Given the description of an element on the screen output the (x, y) to click on. 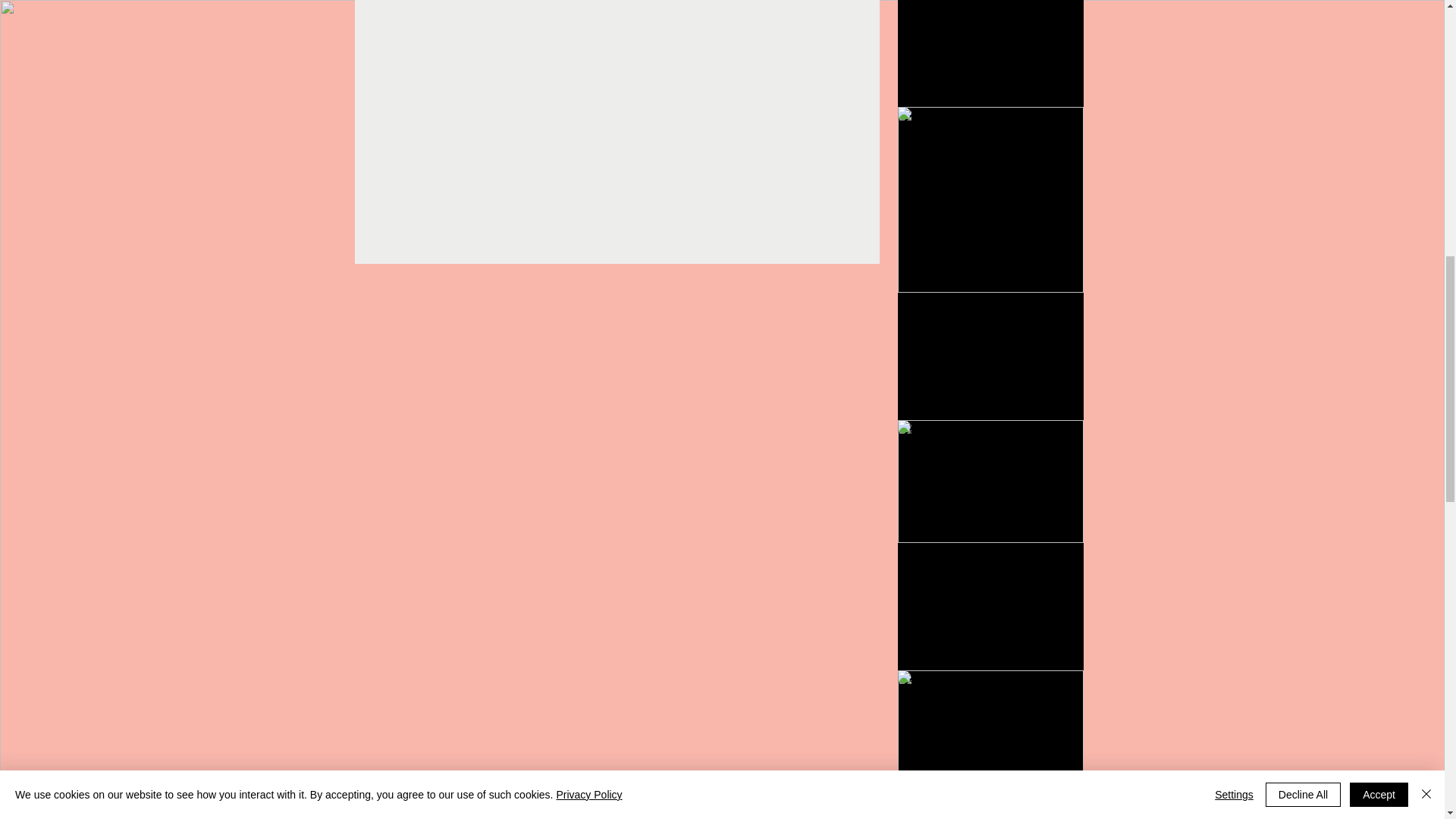
War Horse - National Theatre's UK and Ireland Tour (990, 816)
The Jive Aces - at The Priory (990, 320)
Festival Off to a Dramatic Start (990, 7)
